Given the description of an element on the screen output the (x, y) to click on. 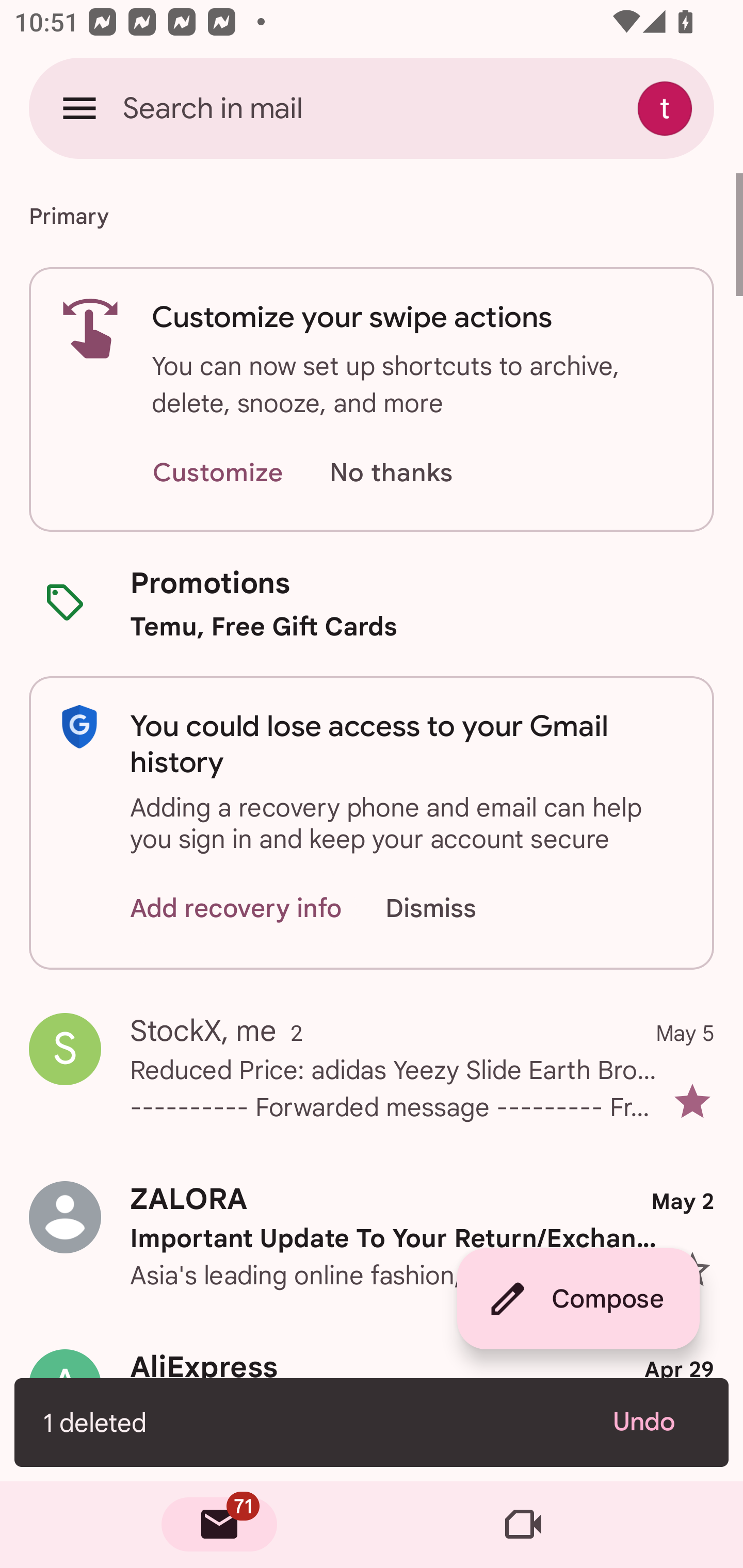
Open navigation drawer (79, 108)
Customize (217, 473)
No thanks (390, 473)
Promotions Temu, Free Gift Cards (371, 603)
Add recovery info (235, 908)
Dismiss (449, 908)
Compose (577, 1299)
Undo (655, 1422)
Meet (523, 1524)
